Given the description of an element on the screen output the (x, y) to click on. 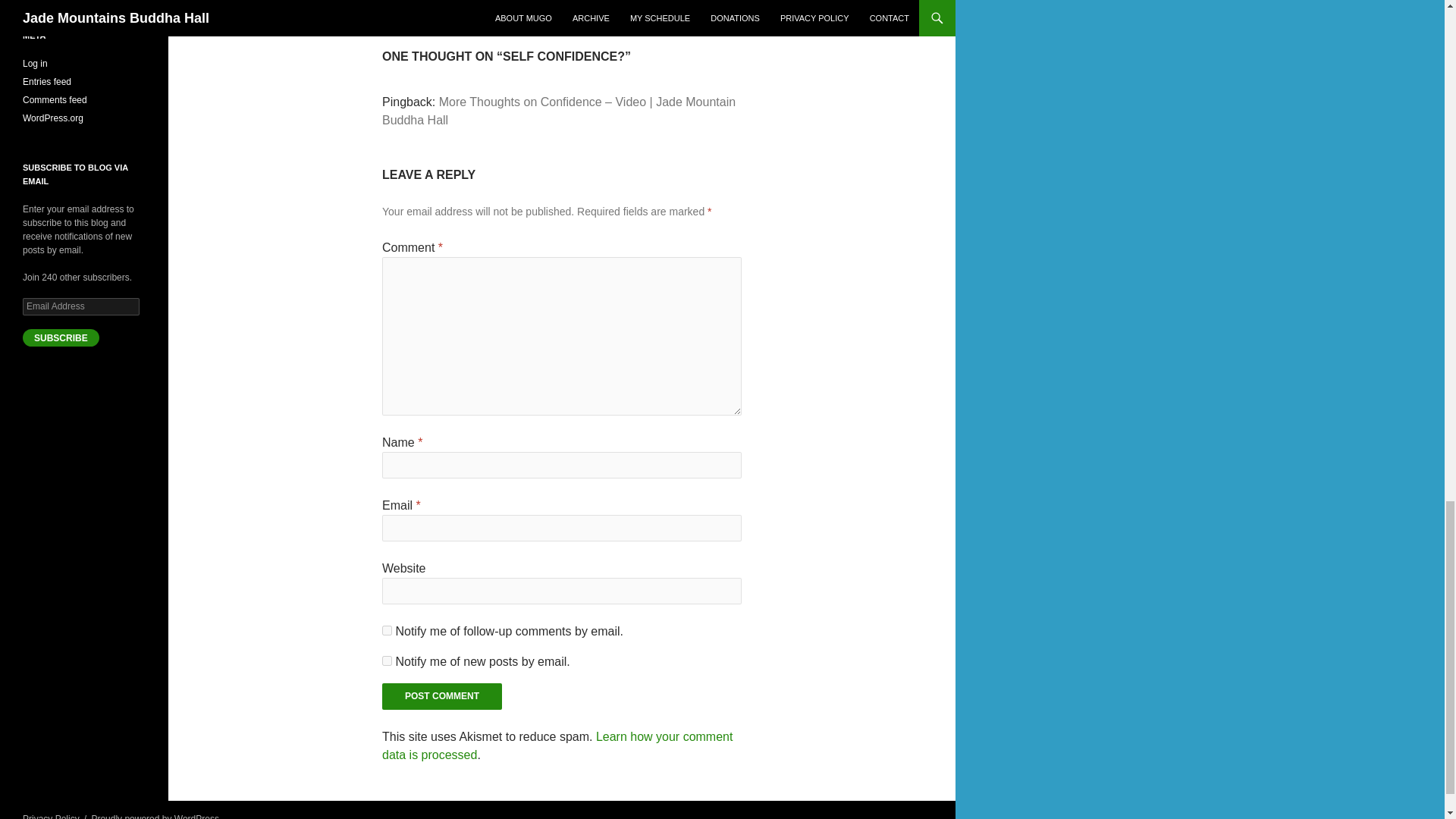
subscribe (386, 660)
Learn how your comment data is processed (561, 5)
Post Comment (556, 745)
Post Comment (441, 696)
subscribe (441, 696)
